Given the description of an element on the screen output the (x, y) to click on. 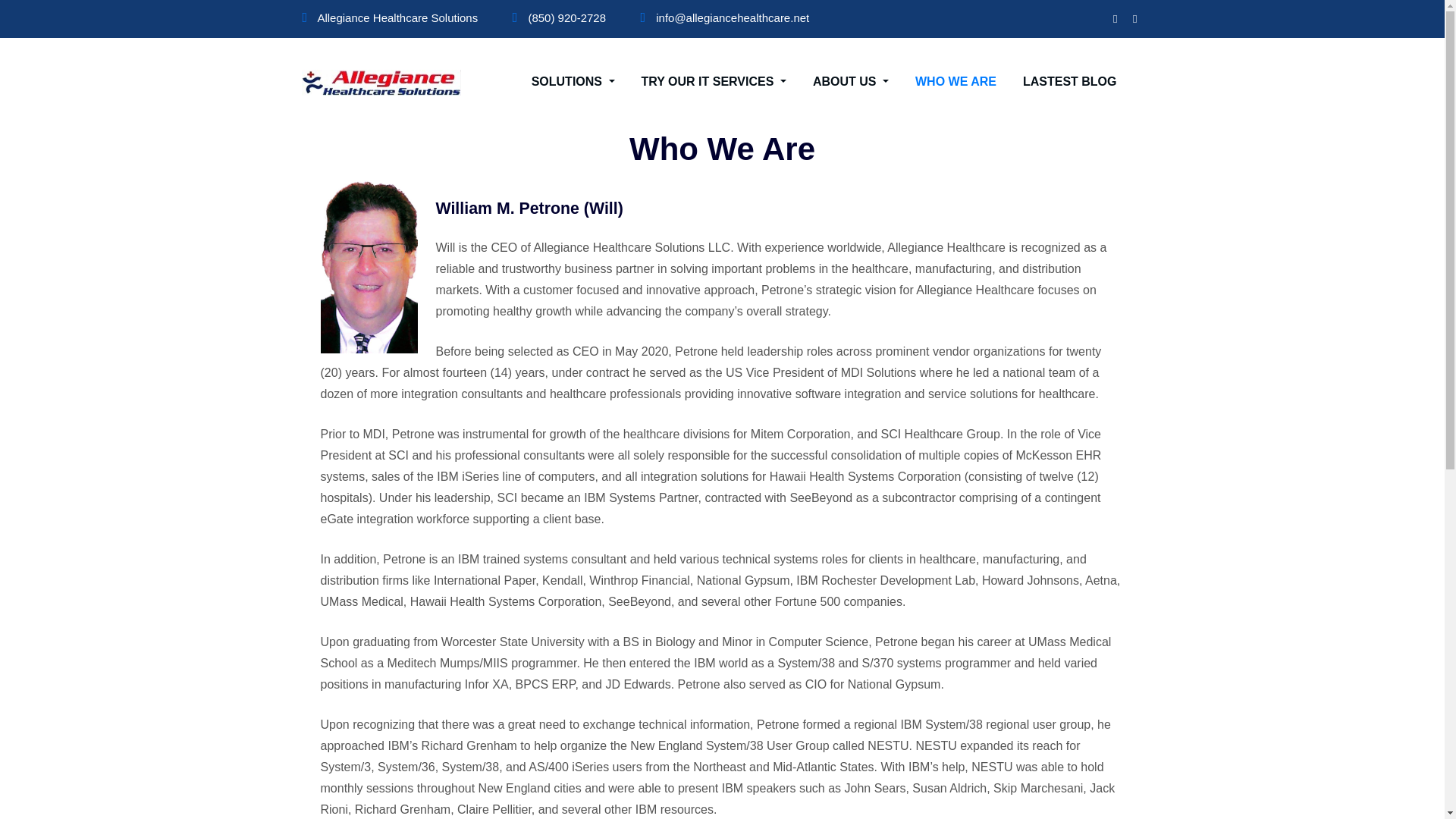
WHO WE ARE (955, 81)
TRY OUR IT SERVICES (714, 81)
ABOUT US (850, 81)
Allegiance Healthcare Solutions (397, 17)
LASTEST BLOG (1069, 81)
SOLUTIONS (572, 81)
